Given the description of an element on the screen output the (x, y) to click on. 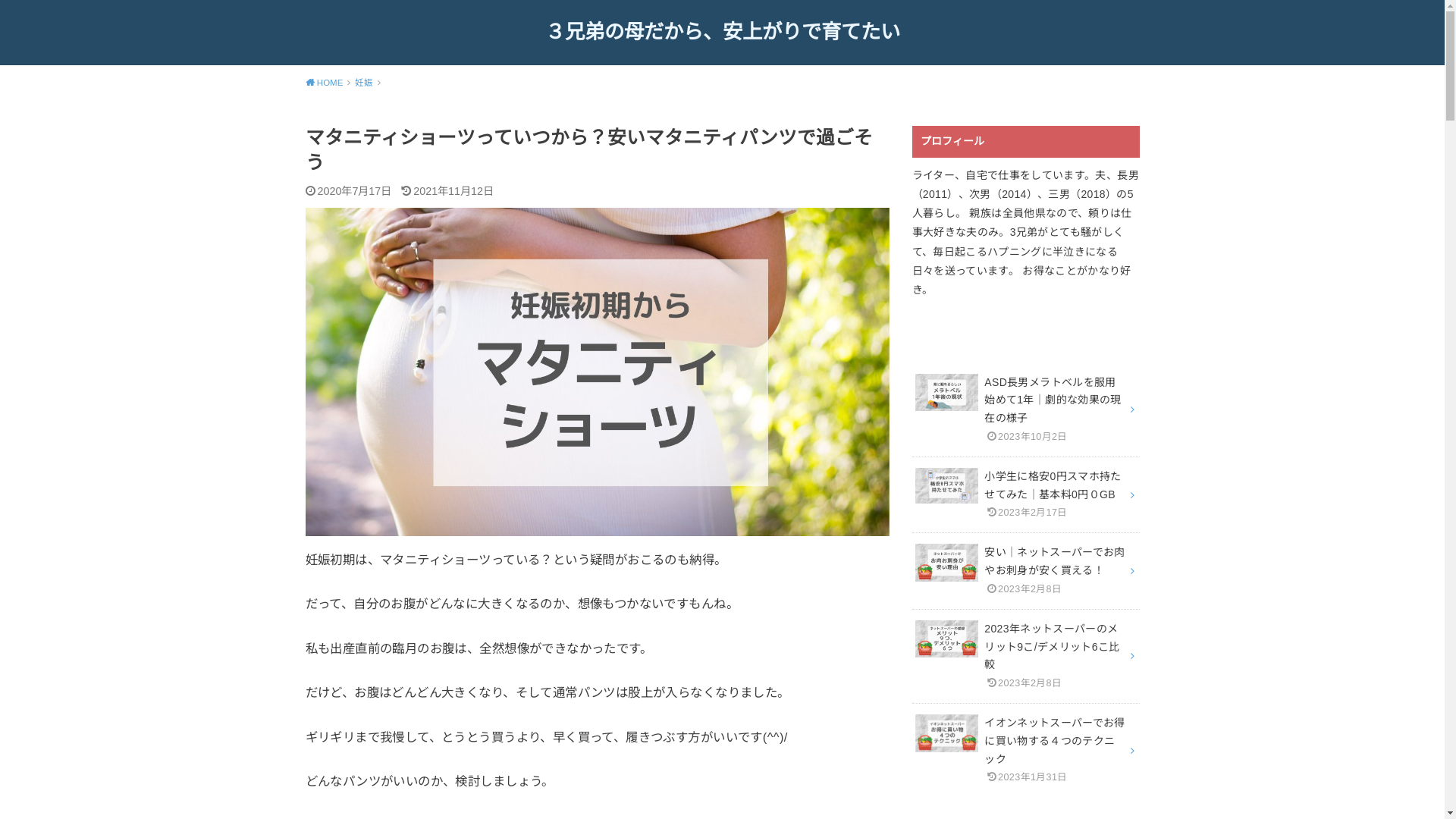
HOME Element type: text (327, 82)
